Given the description of an element on the screen output the (x, y) to click on. 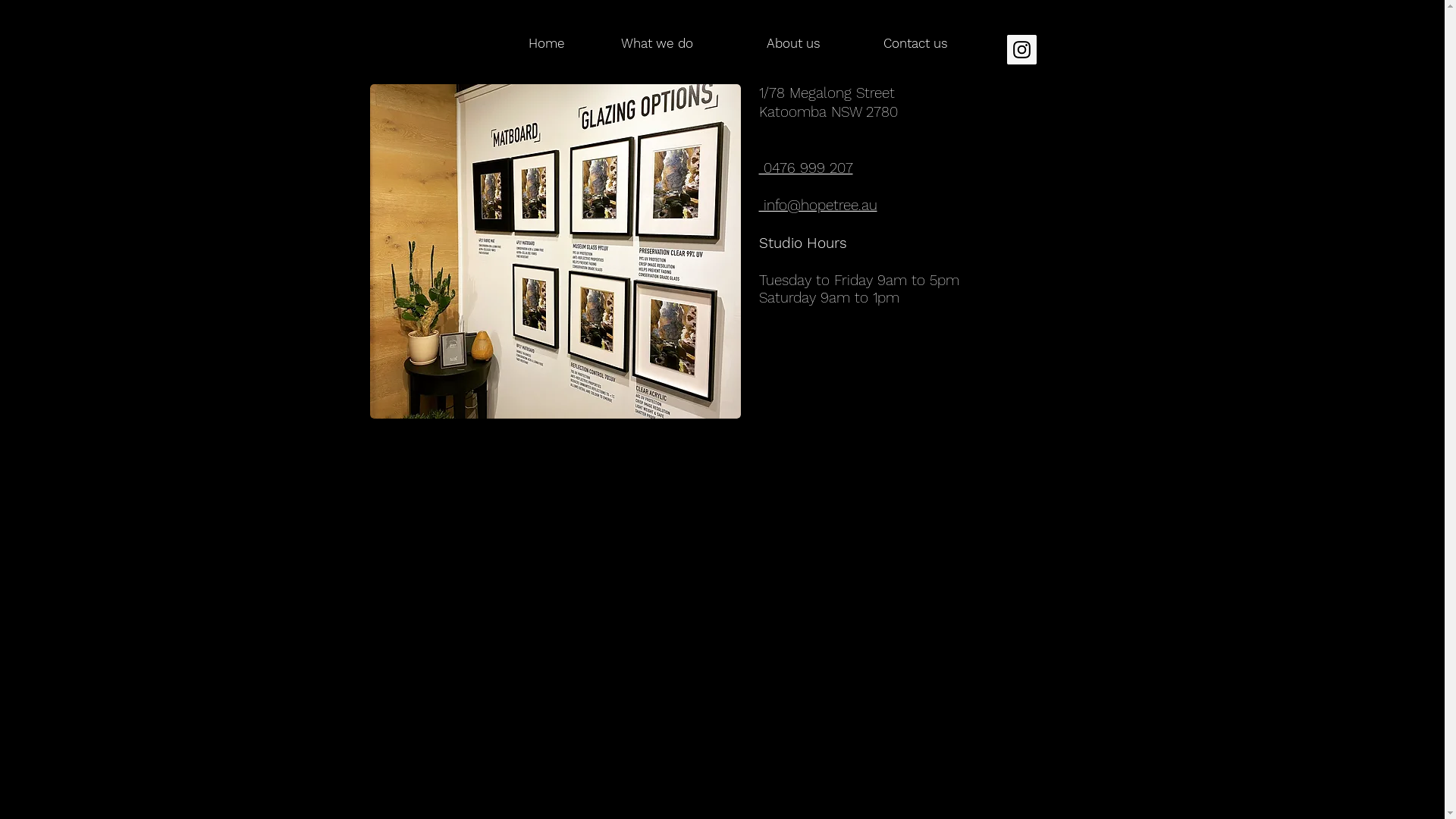
 info@hopetree.au Element type: text (817, 204)
 0476 999 207 Element type: text (805, 167)
About us Element type: text (768, 43)
Contact us Element type: text (895, 43)
What we do Element type: text (639, 43)
Home Element type: text (511, 43)
